Given the description of an element on the screen output the (x, y) to click on. 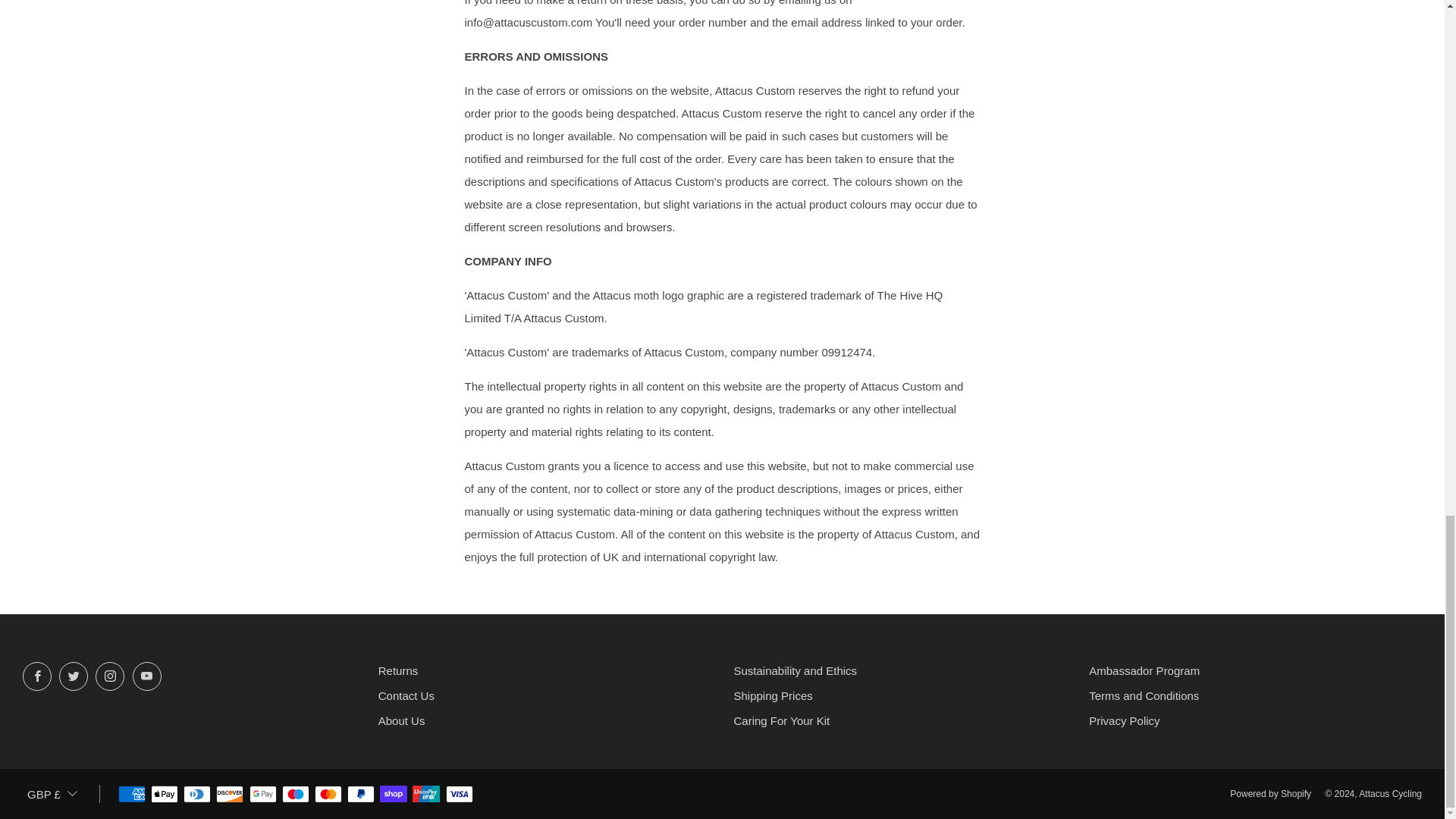
Google Pay (262, 794)
Union Pay (425, 794)
PayPal (360, 794)
Visa (459, 794)
Shop Pay (393, 794)
Maestro (295, 794)
Mastercard (328, 794)
American Express (131, 794)
Apple Pay (164, 794)
Diners Club (197, 794)
Discover (229, 794)
